Given the description of an element on the screen output the (x, y) to click on. 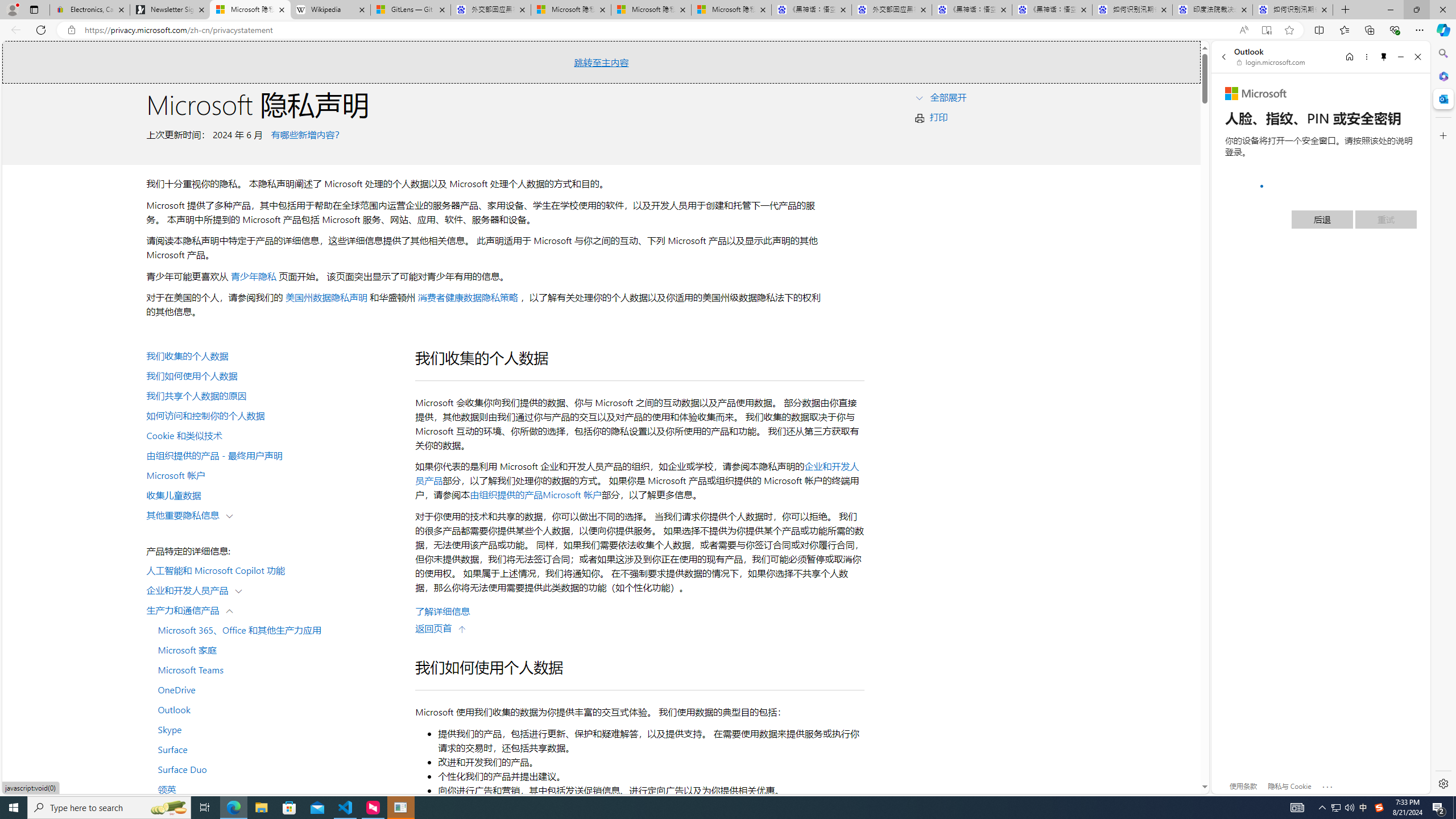
login.microsoft.com (1271, 61)
